Given the description of an element on the screen output the (x, y) to click on. 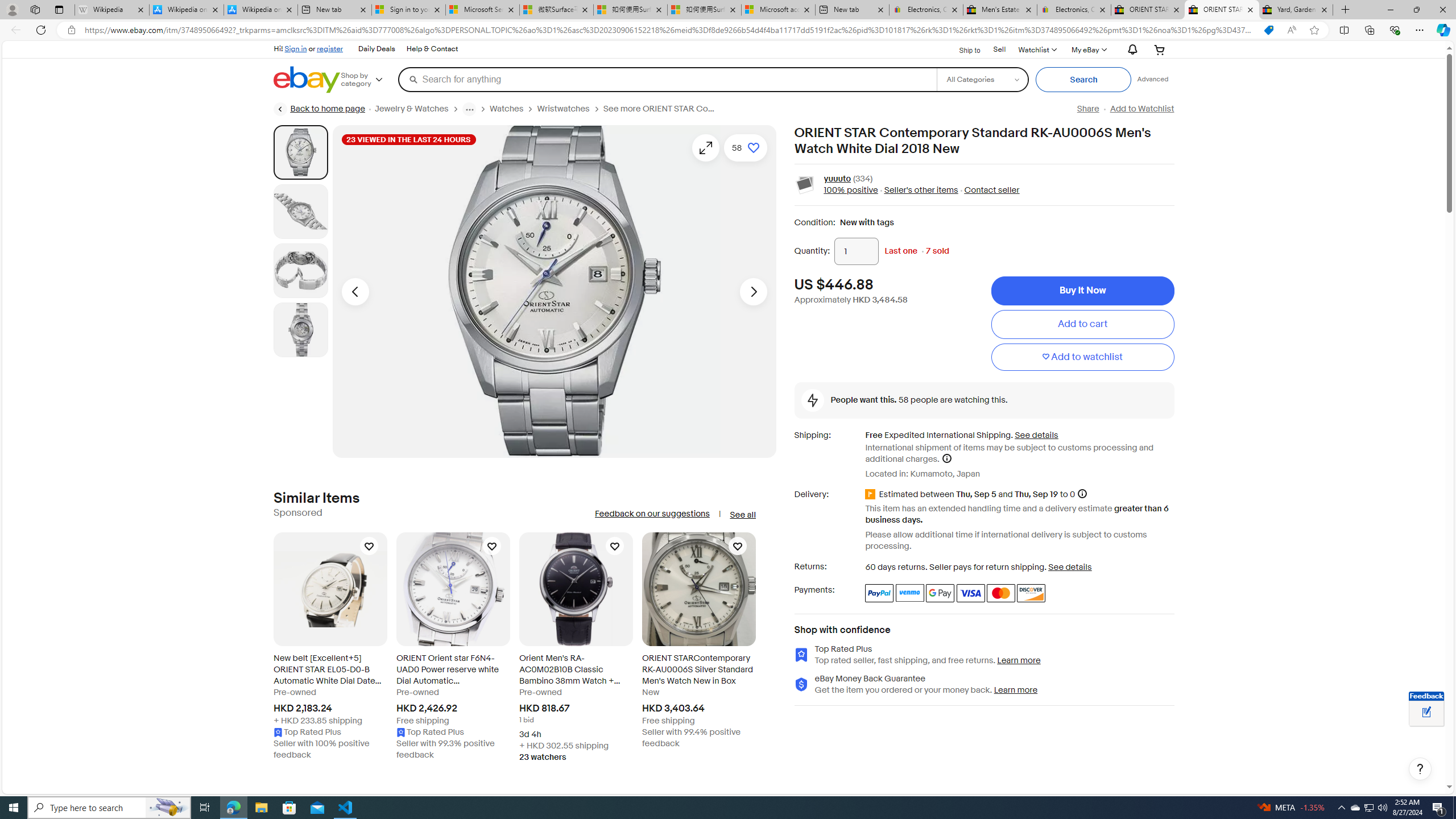
  Contact seller (988, 190)
Wristwatches (569, 108)
Seller's other items (920, 190)
Share (1087, 108)
See all (742, 514)
My eBayExpand My eBay (1088, 49)
Venmo (909, 592)
Watchlist (1036, 49)
Opens image gallery (705, 147)
